Given the description of an element on the screen output the (x, y) to click on. 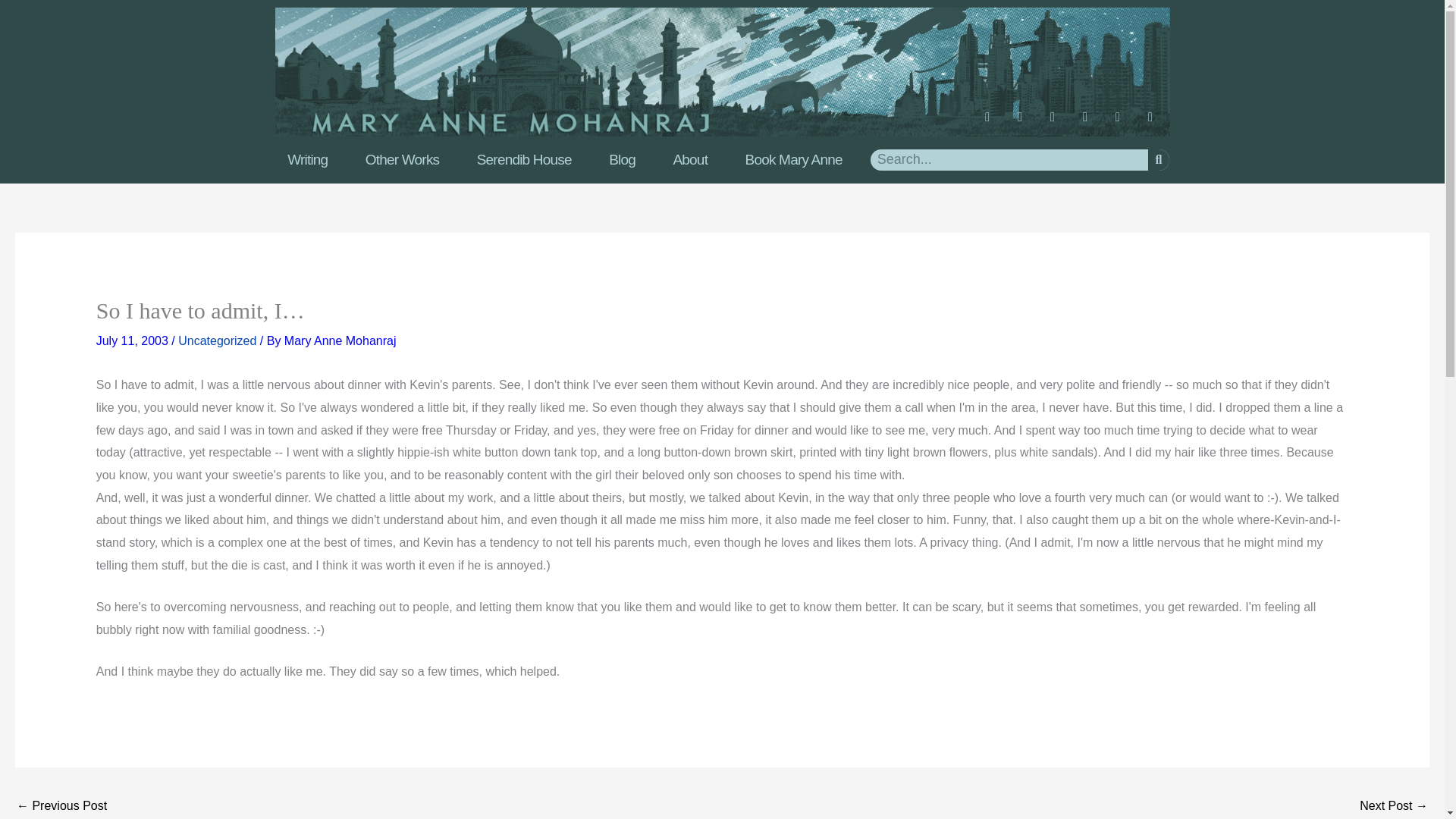
Youtube (1058, 123)
Instagram (1026, 123)
Patreon (1124, 123)
Hey, munchkins.  So I... (1393, 806)
View all posts by Mary Anne Mohanraj (339, 340)
Facebook (994, 123)
Writing (306, 159)
Blog (621, 159)
written around... (61, 806)
About (689, 159)
